Given the description of an element on the screen output the (x, y) to click on. 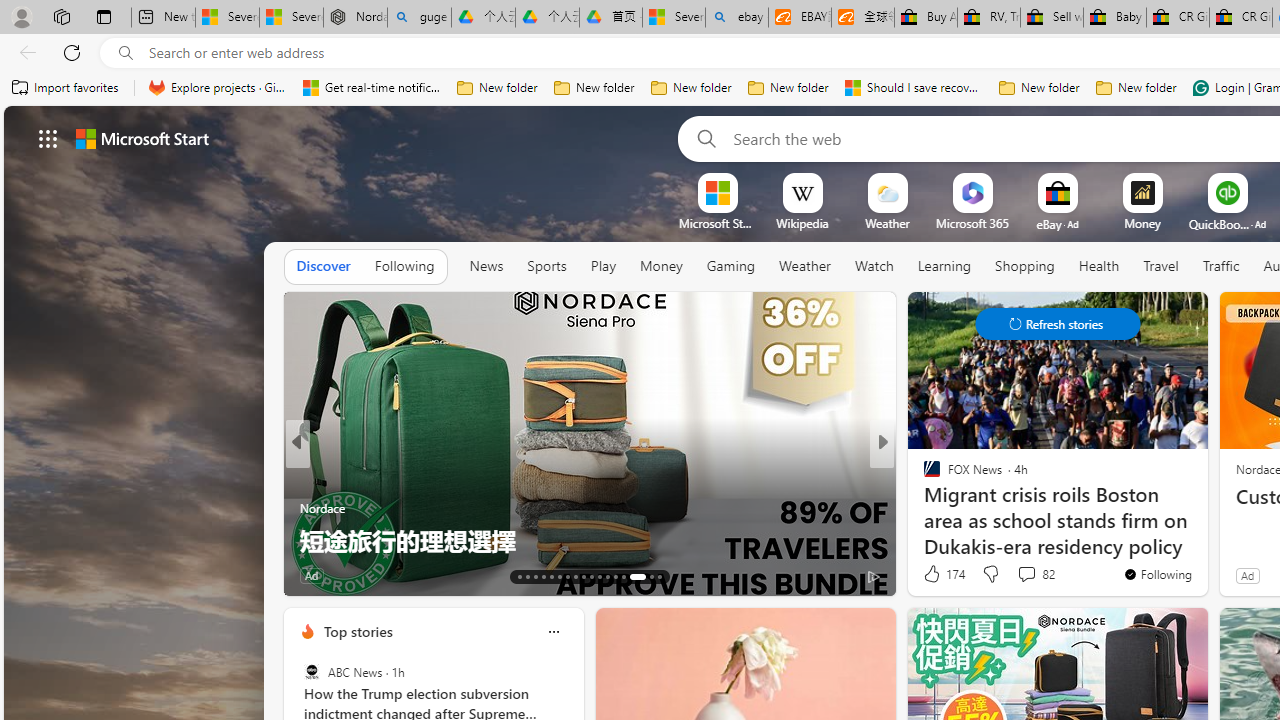
More options (553, 631)
You're following FOX News (1157, 573)
Top stories (357, 631)
AutomationID: tab-25 (614, 576)
Like (925, 574)
Start the conversation (997, 574)
Watch (874, 265)
AutomationID: tab-14 (527, 576)
View comments 2 Comment (398, 575)
AutomationID: tab-20 (574, 576)
ABC News (311, 672)
guge yunpan - Search (418, 17)
Sports (546, 265)
Buy Auto Parts & Accessories | eBay (925, 17)
